Given the description of an element on the screen output the (x, y) to click on. 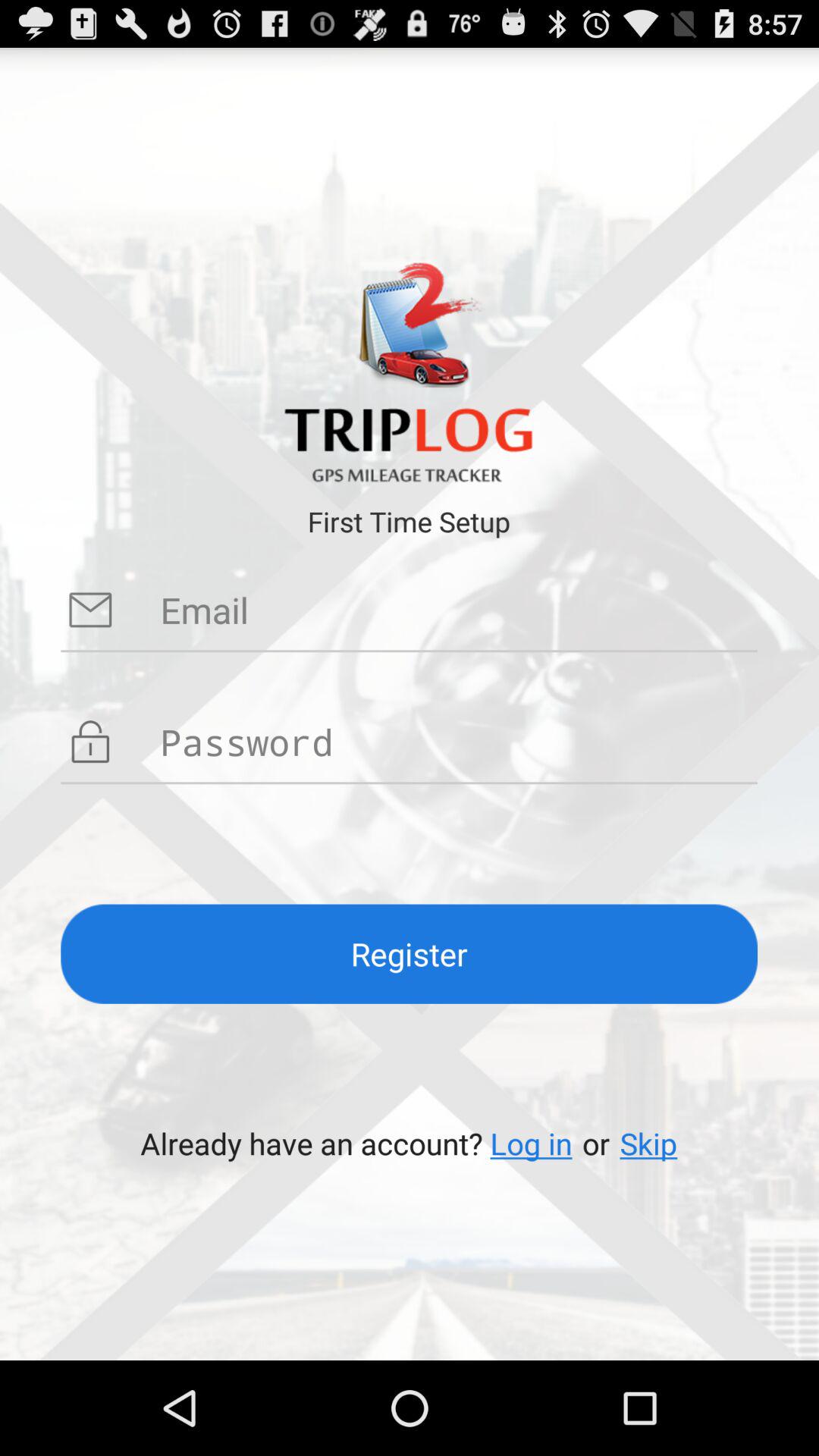
click the item above already have an icon (408, 953)
